Given the description of an element on the screen output the (x, y) to click on. 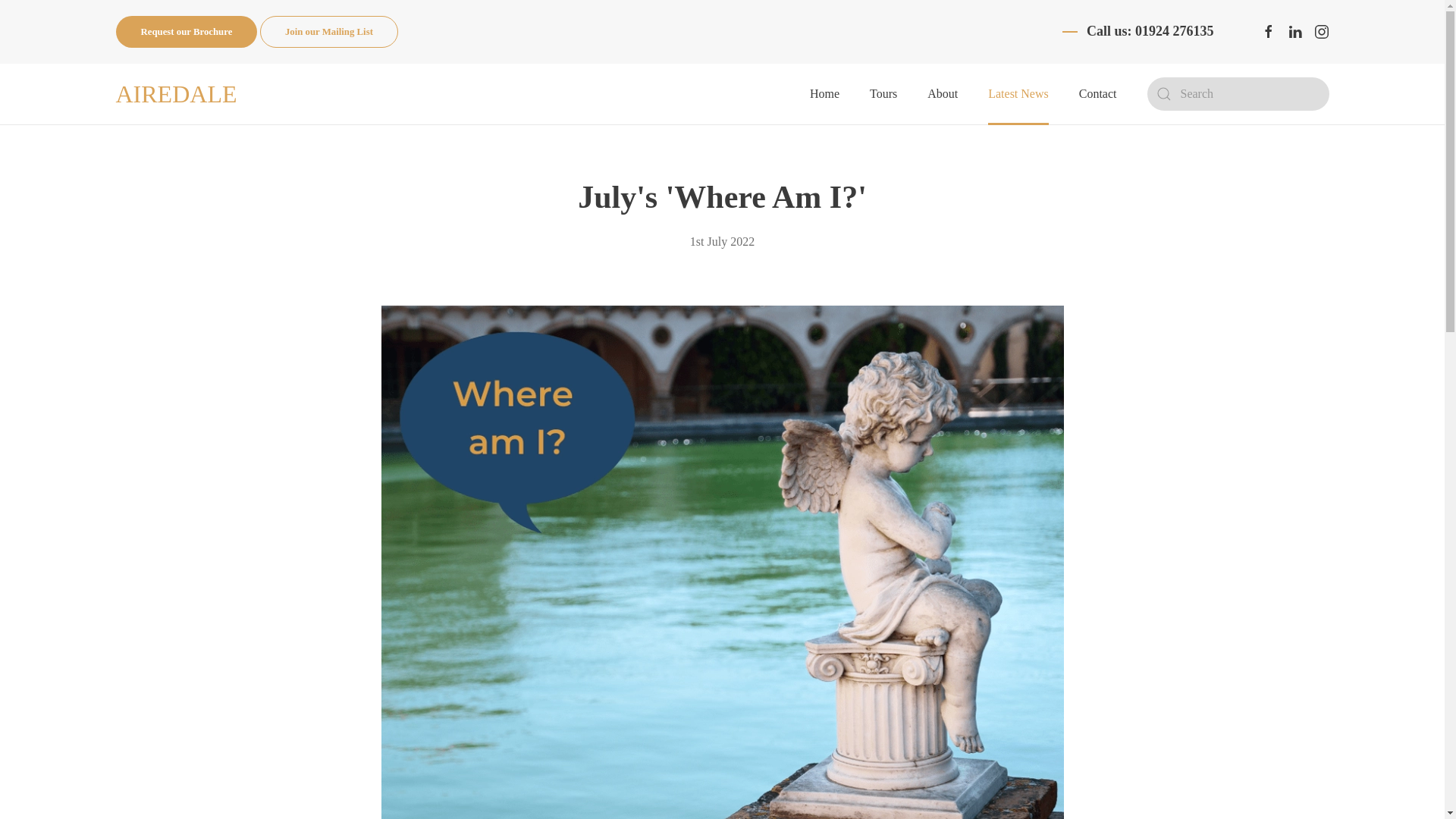
July's 'Where Am I?' (722, 196)
AIREDALE (175, 93)
Call us: 01924 276135 (1150, 31)
Request our Brochure (186, 31)
Latest News (1018, 93)
Join our Mailing List (328, 31)
